Given the description of an element on the screen output the (x, y) to click on. 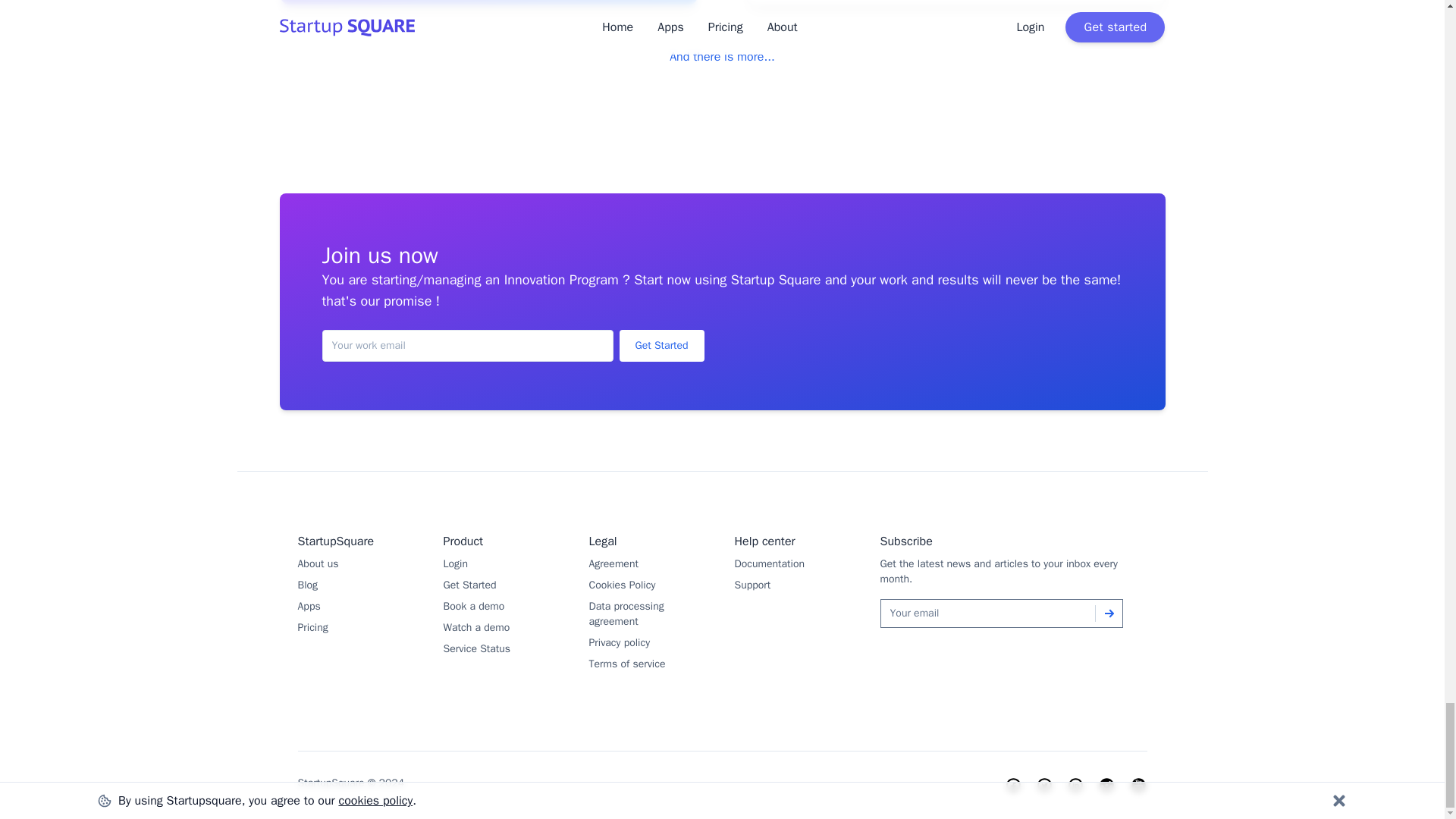
Apps (308, 605)
Service Status (476, 648)
Documentation (769, 563)
Support (751, 584)
Cookies Policy (621, 584)
Data processing agreement (625, 613)
Book a demo (472, 605)
Login (454, 563)
Privacy policy (618, 642)
Agreement (612, 563)
Get Started (660, 345)
Terms of service (626, 663)
Pricing (312, 626)
About us (317, 563)
Watch a demo (475, 626)
